Given the description of an element on the screen output the (x, y) to click on. 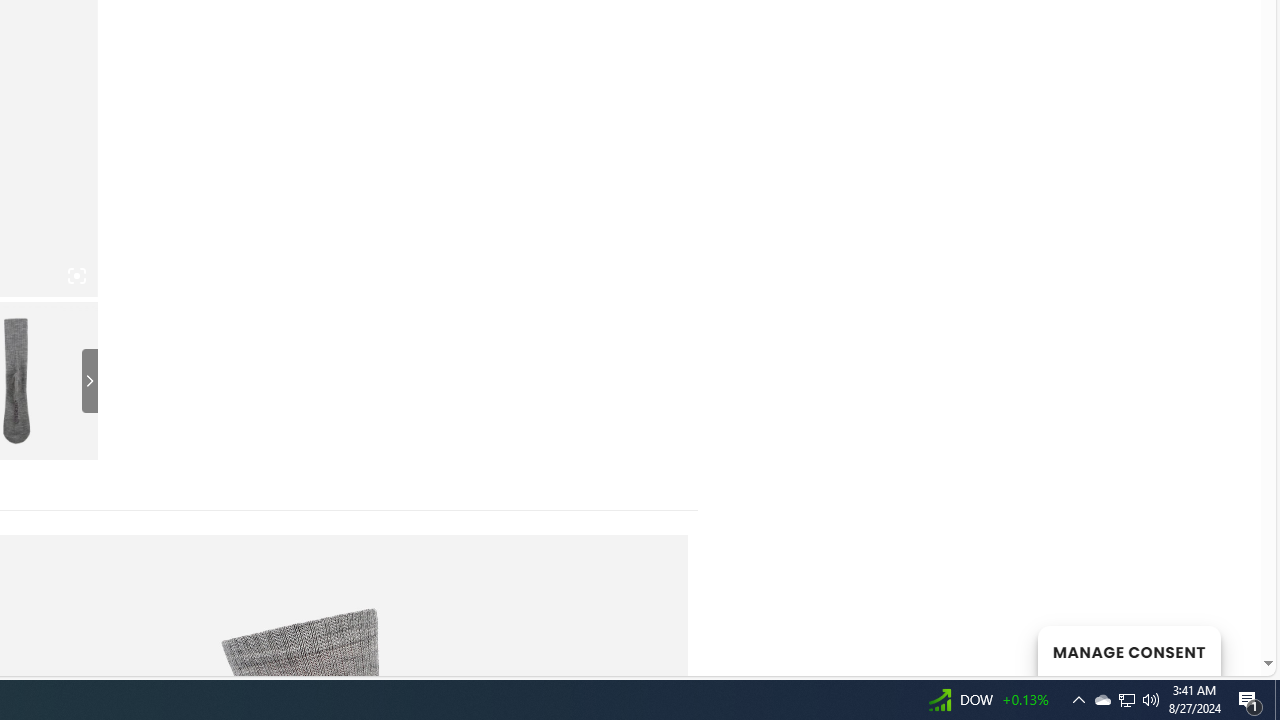
MANAGE CONSENT (1128, 650)
Class: iconic-woothumbs-fullscreen (75, 276)
